Given the description of an element on the screen output the (x, y) to click on. 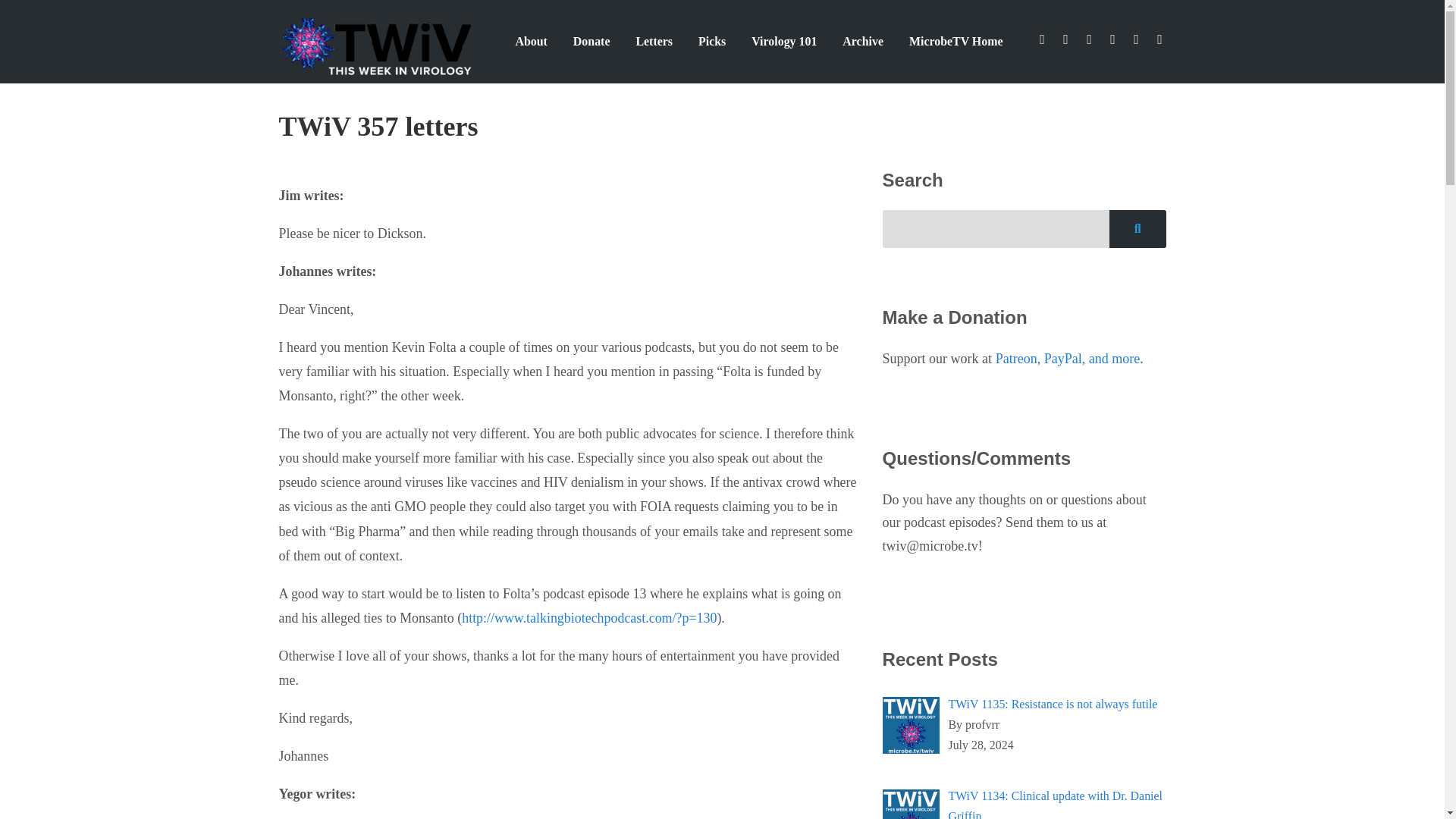
Patreon, PayPal, and more (1067, 358)
TWiV 1134: Clinical update with Dr. Daniel Griffin (1054, 798)
Virology 101 (783, 41)
MicrobeTV Home (956, 41)
TWiV 1135: Resistance is not always futile (1052, 703)
